Given the description of an element on the screen output the (x, y) to click on. 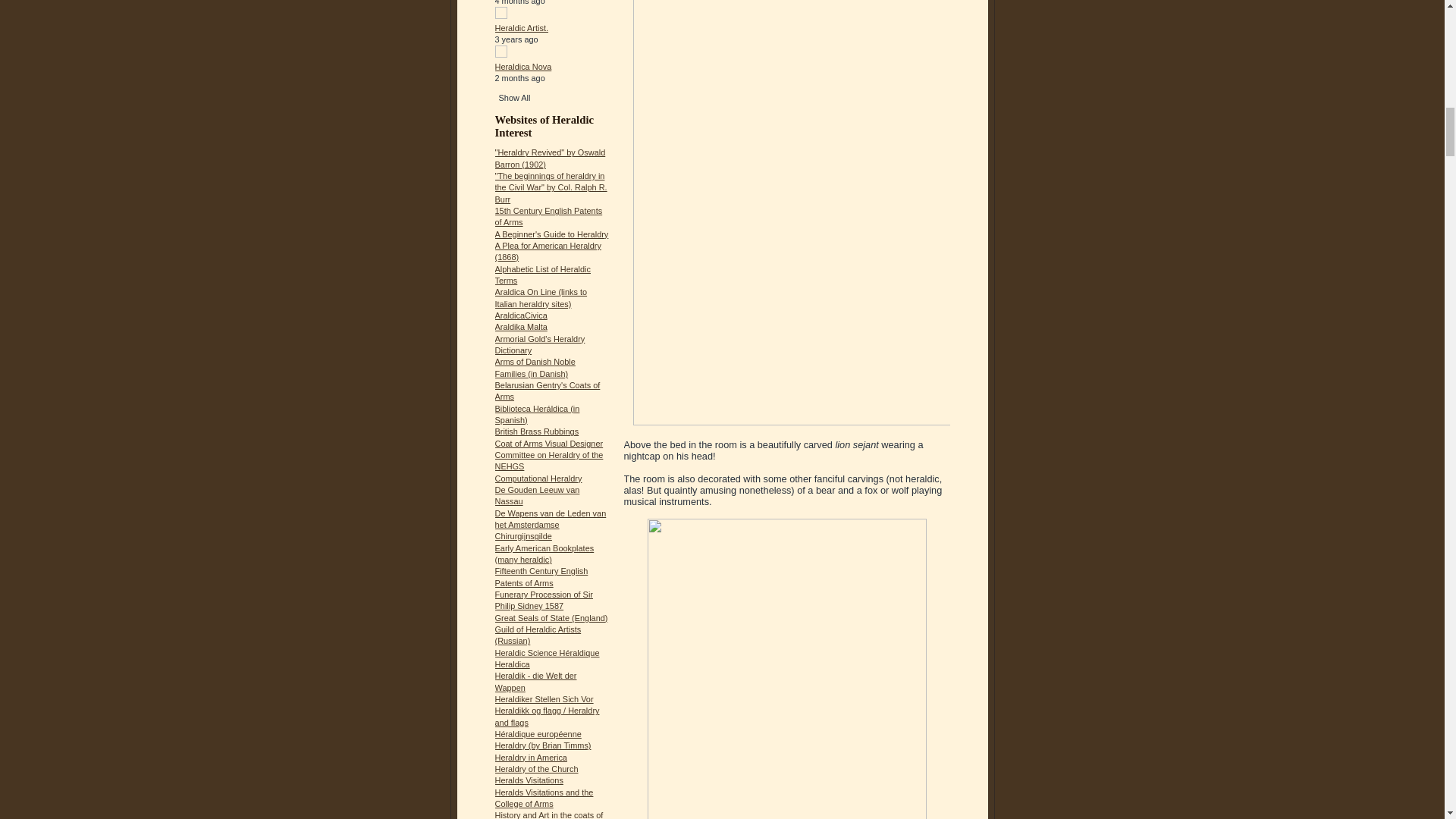
Heraldica Nova (523, 66)
Heraldic Artist. (521, 27)
